Given the description of an element on the screen output the (x, y) to click on. 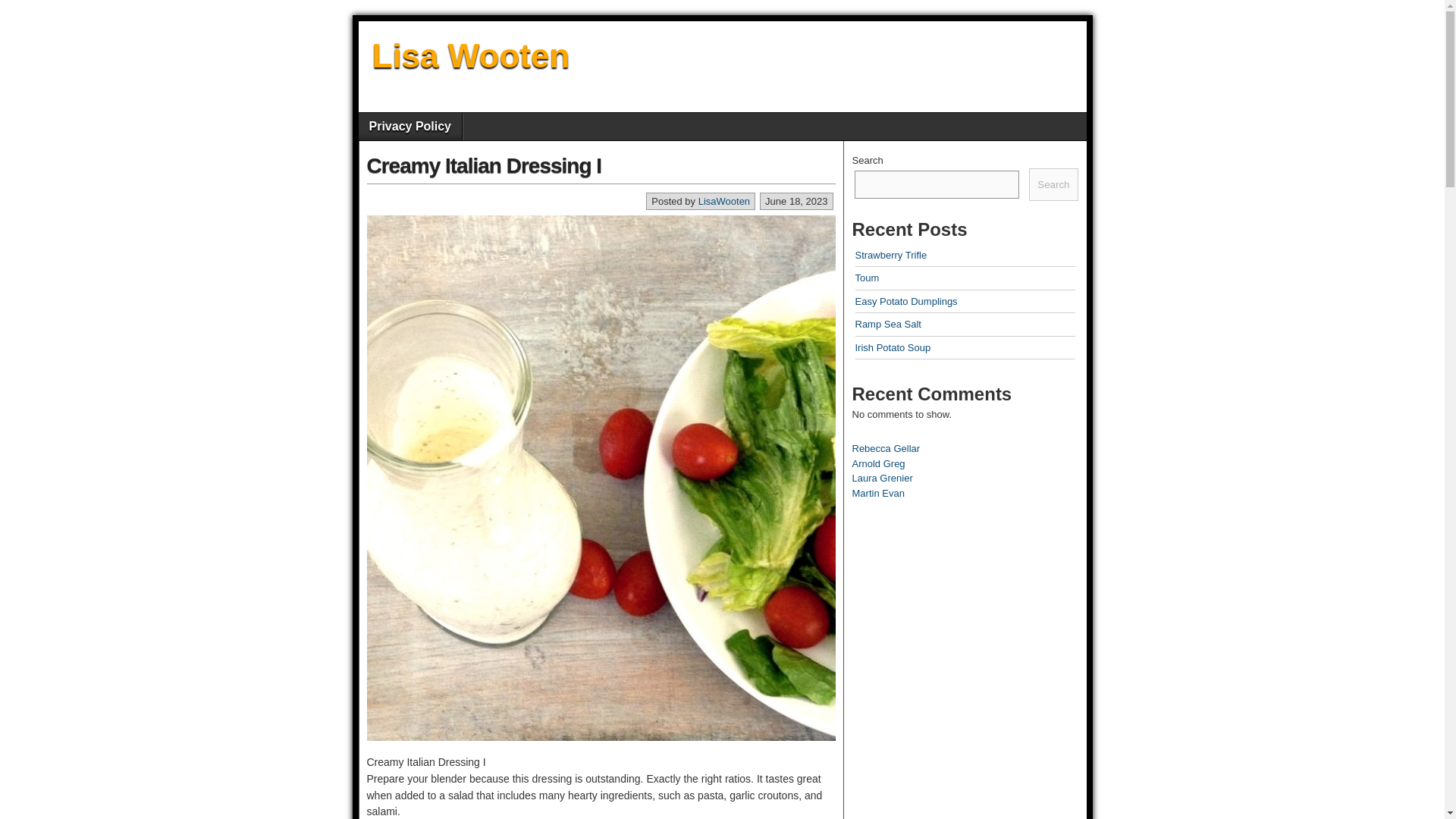
Rebecca Gellar (885, 448)
Search (1053, 184)
Laura Grenier (881, 478)
Arnold Greg (878, 463)
Privacy Policy (409, 126)
LisaWooten (723, 201)
Irish Potato Soup (893, 347)
Creamy Italian Dressing I (484, 165)
Martin Evan (877, 492)
Lisa Wooten (470, 55)
